Given the description of an element on the screen output the (x, y) to click on. 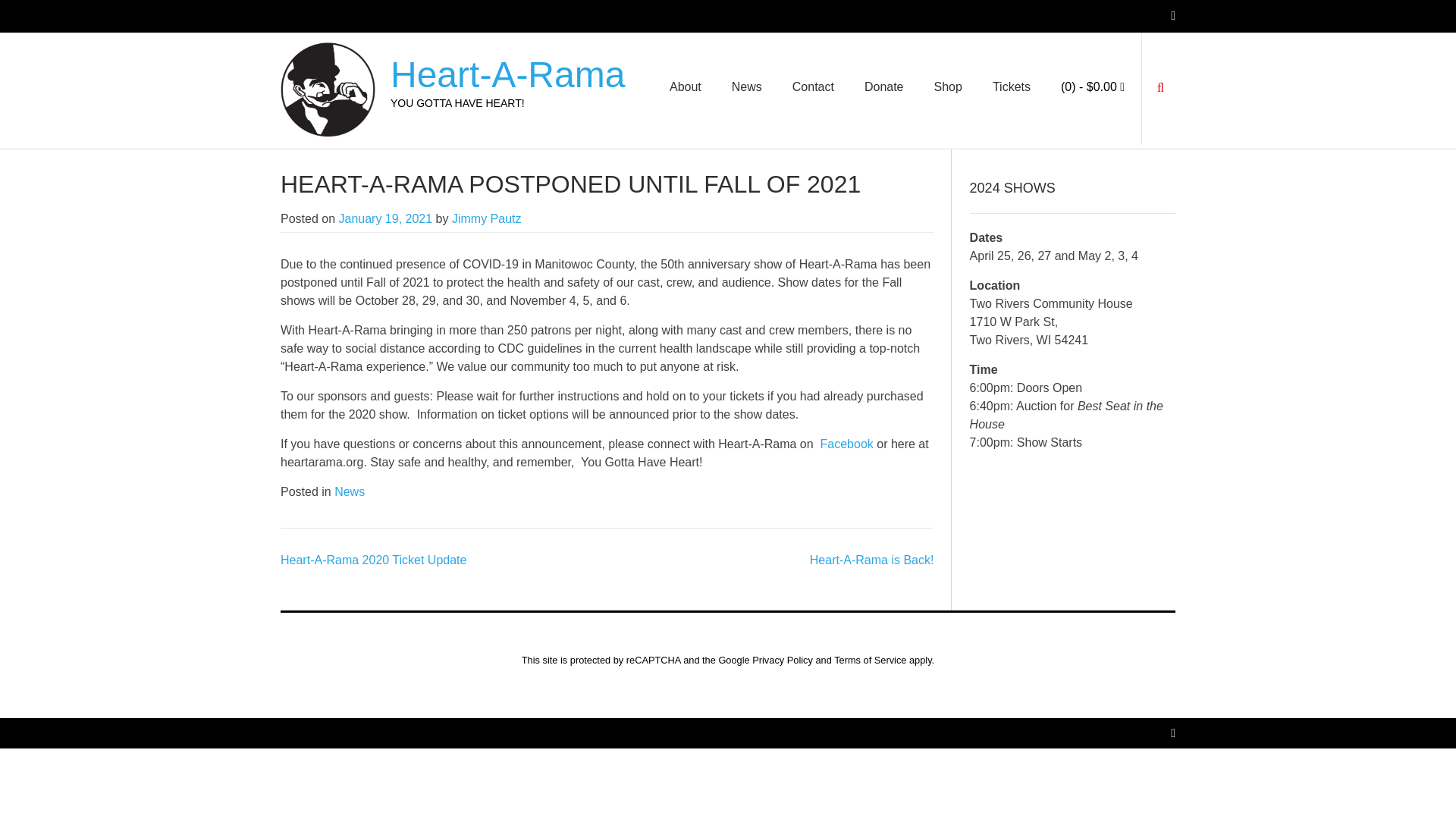
Heart-A-Rama (507, 74)
Terms of Service (869, 659)
Privacy Policy (782, 659)
Heart-A-Rama 2020 Ticket Update (373, 559)
January 19, 2021 (384, 218)
Jimmy Pautz (486, 218)
Heart-A-Rama (507, 74)
Heart-A-Rama is Back! (871, 559)
News (349, 491)
View your shopping cart (1092, 86)
